Given the description of an element on the screen output the (x, y) to click on. 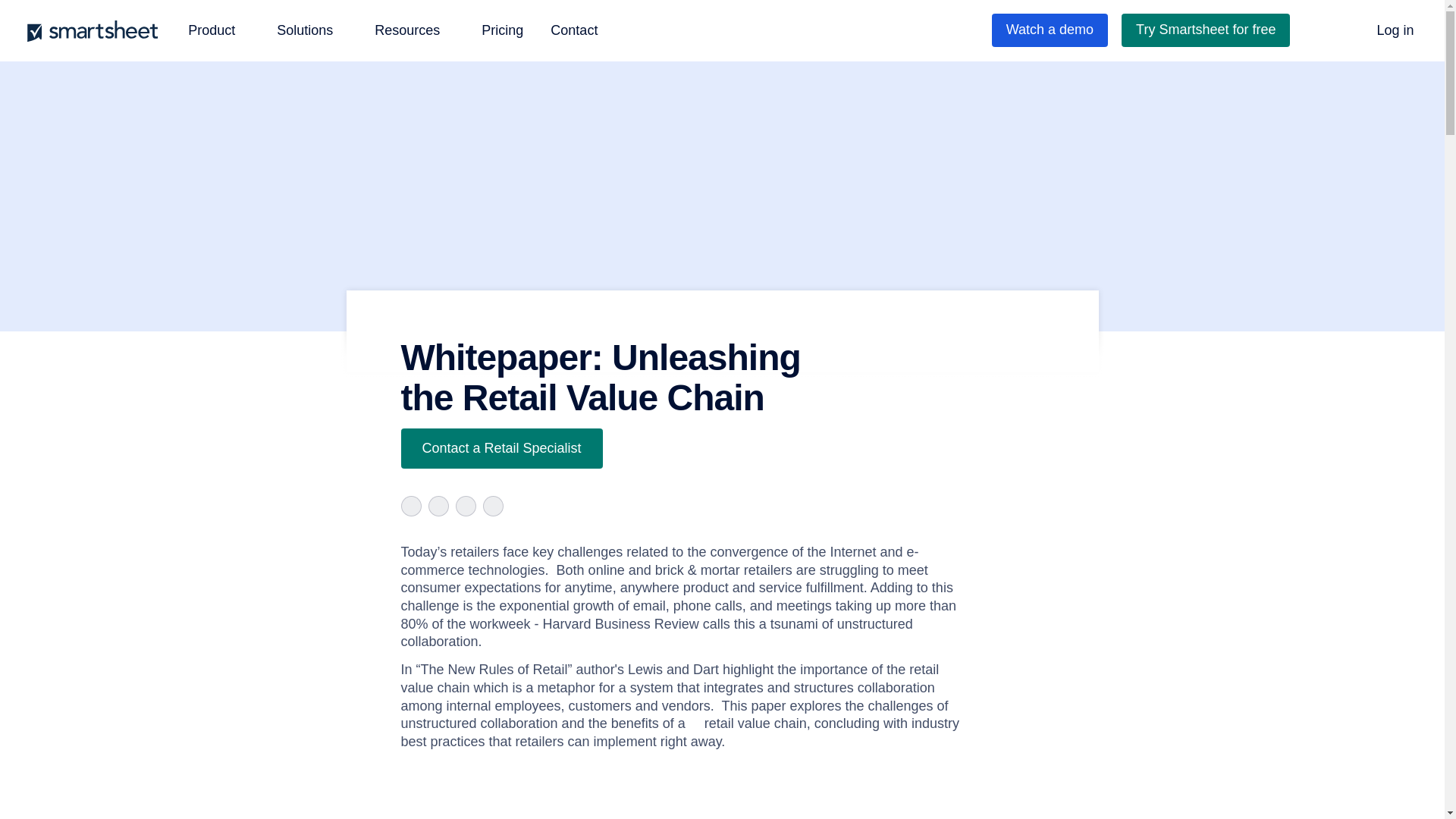
Product (218, 30)
Smartsheet (100, 30)
Skip to main content (21, 11)
Solutions (312, 30)
Smartsheet (100, 30)
